Given the description of an element on the screen output the (x, y) to click on. 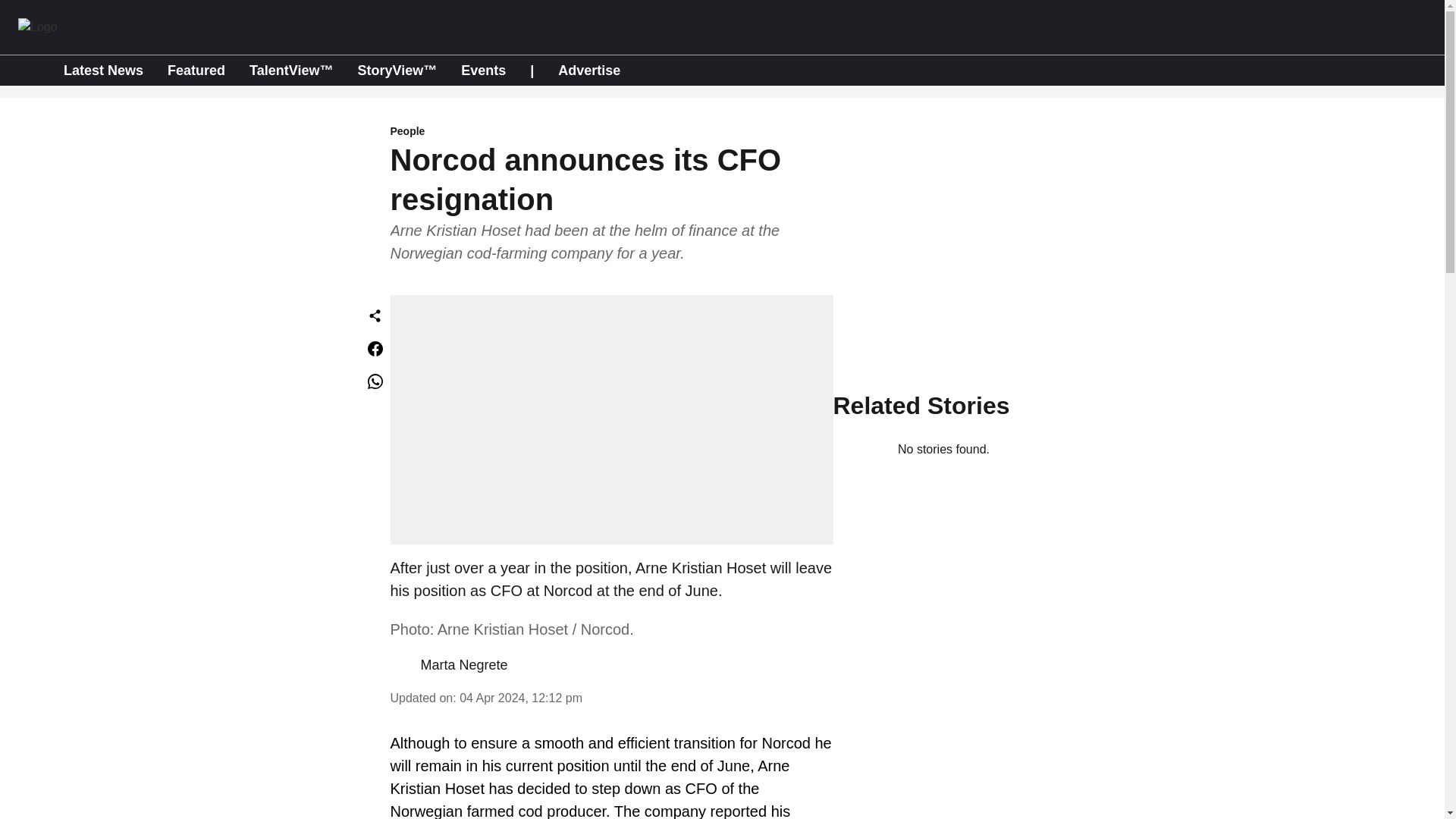
Marta Negrete (463, 663)
People (611, 132)
Events (483, 70)
Advertise (588, 70)
Featured (196, 70)
Latest News (103, 70)
